Given the description of an element on the screen output the (x, y) to click on. 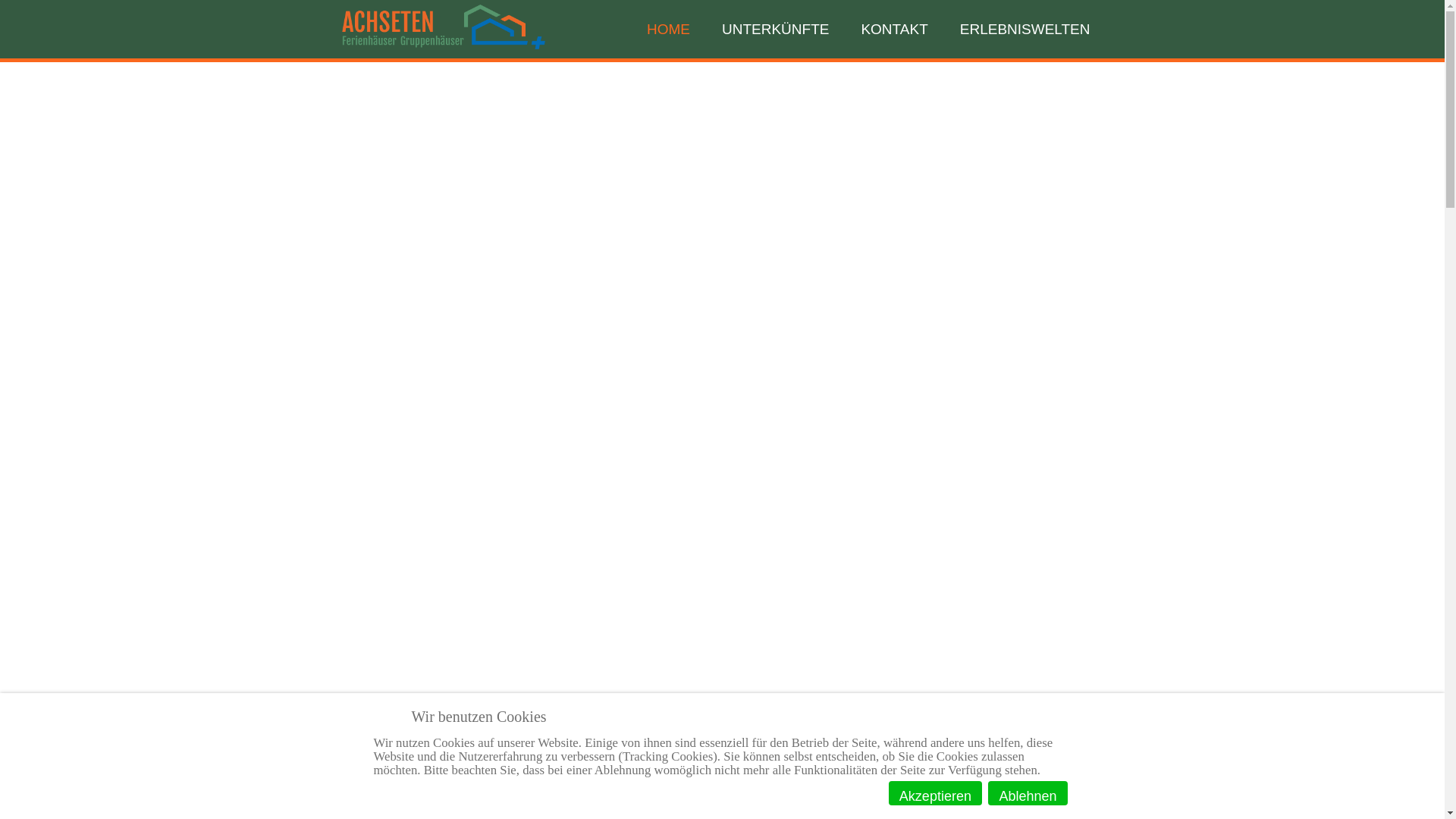
HOME Element type: text (667, 28)
Back Element type: text (19, 9)
ERLEBNISWELTEN Element type: text (1025, 28)
Akzeptieren Element type: text (935, 793)
Ablehnen Element type: text (1027, 793)
KONTAKT Element type: text (893, 28)
Drucken Element type: text (28, 9)
